Given the description of an element on the screen output the (x, y) to click on. 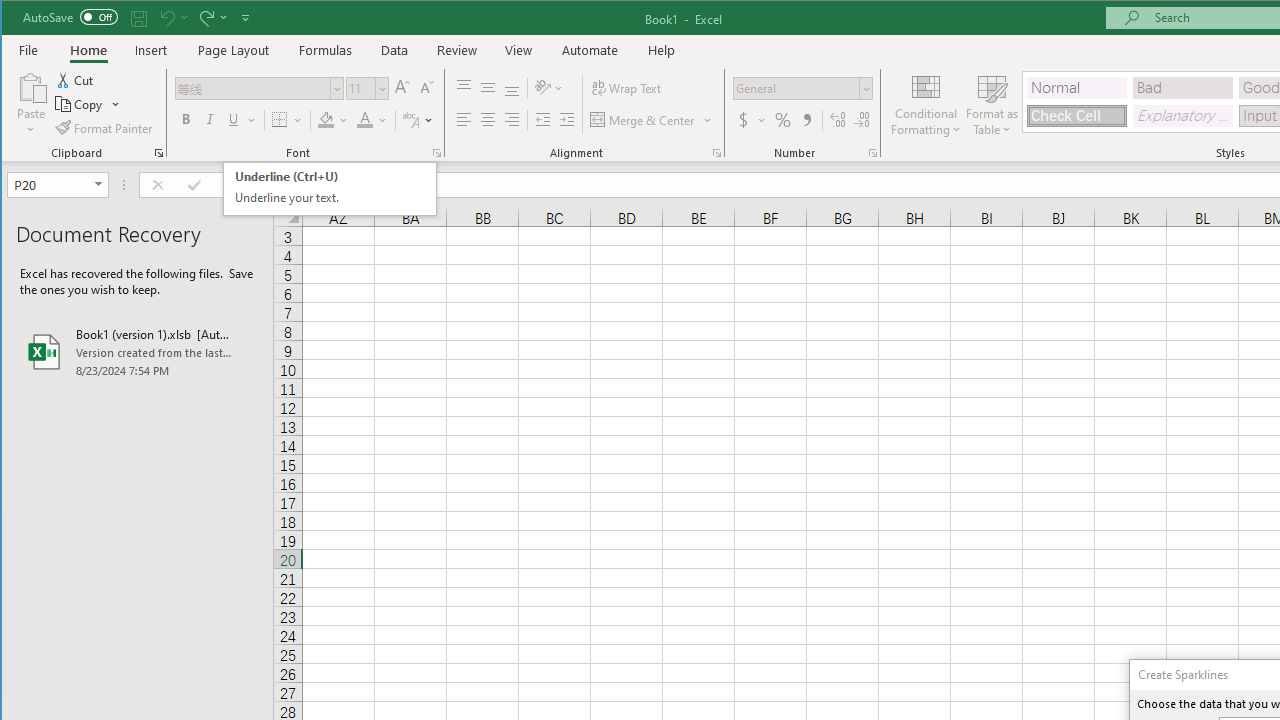
Font Size (360, 88)
Format Cell Number (872, 152)
Format Painter (105, 127)
Merge & Center (644, 119)
Increase Decimal (837, 119)
Font (259, 88)
Bottom Border (279, 119)
Percent Style (782, 119)
Office Clipboard... (158, 152)
Show Phonetic Field (410, 119)
Check Cell (1077, 116)
Bottom Align (511, 88)
Show Phonetic Field (417, 119)
